Given the description of an element on the screen output the (x, y) to click on. 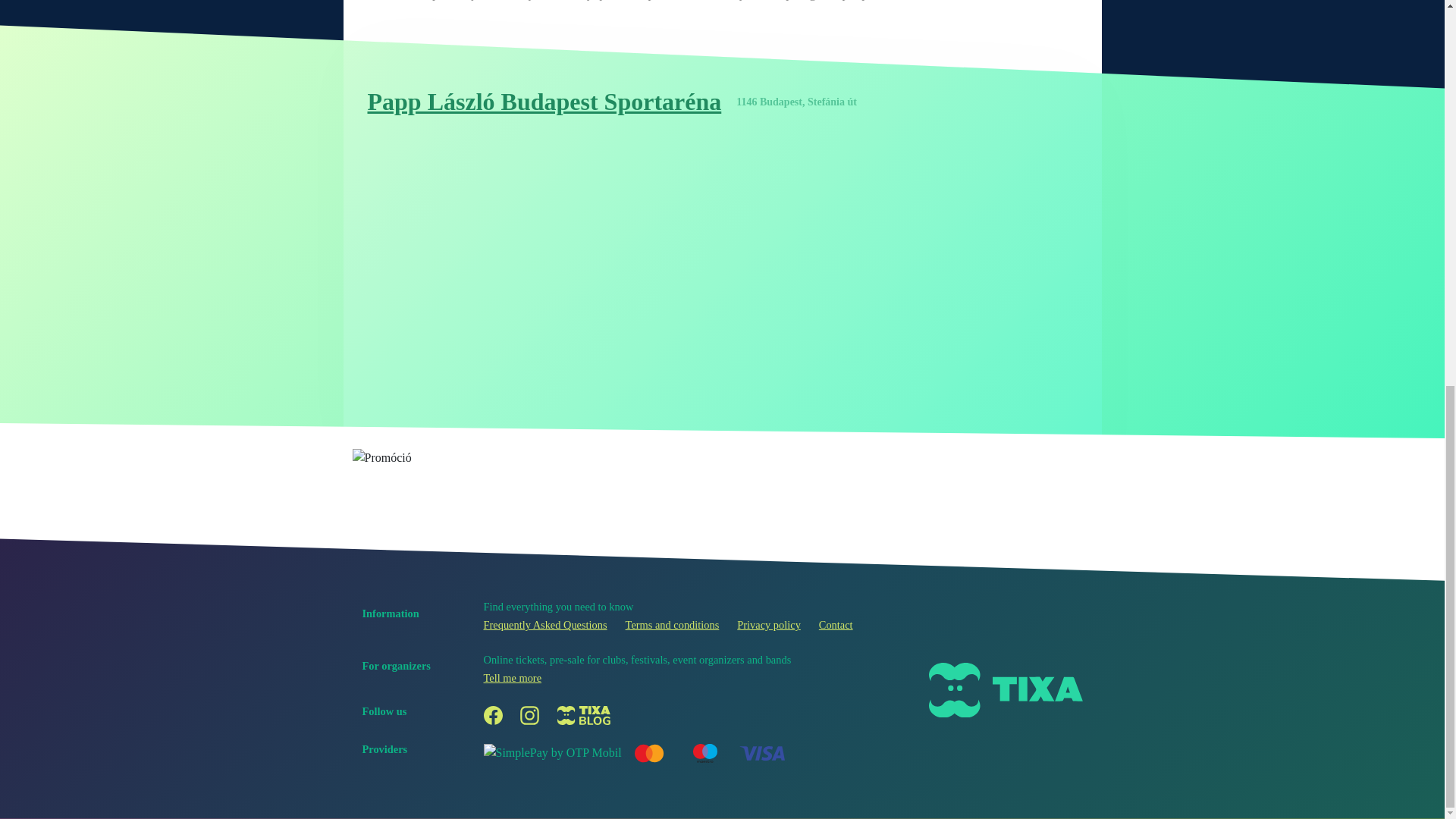
Tixa - Blog (583, 714)
Tixa - Blog (583, 714)
Privacy policy (768, 624)
Terms and conditions (672, 624)
Contact (835, 624)
Tell me more (512, 677)
Frequently Asked Questions (545, 624)
